Given the description of an element on the screen output the (x, y) to click on. 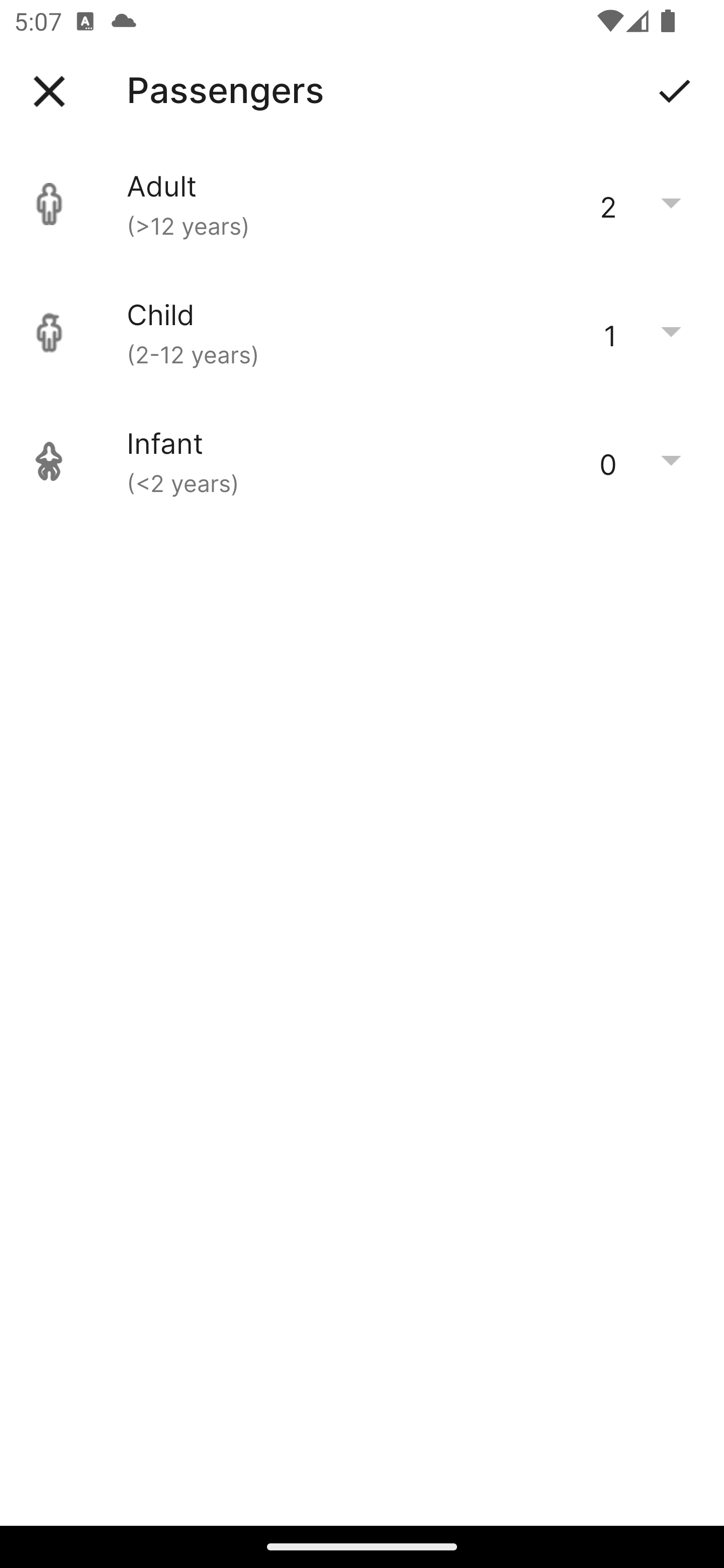
Adult (>12 years) 2 (362, 204)
Child (2-12 years) 1 (362, 332)
Infant (<2 years) 0 (362, 461)
